Given the description of an element on the screen output the (x, y) to click on. 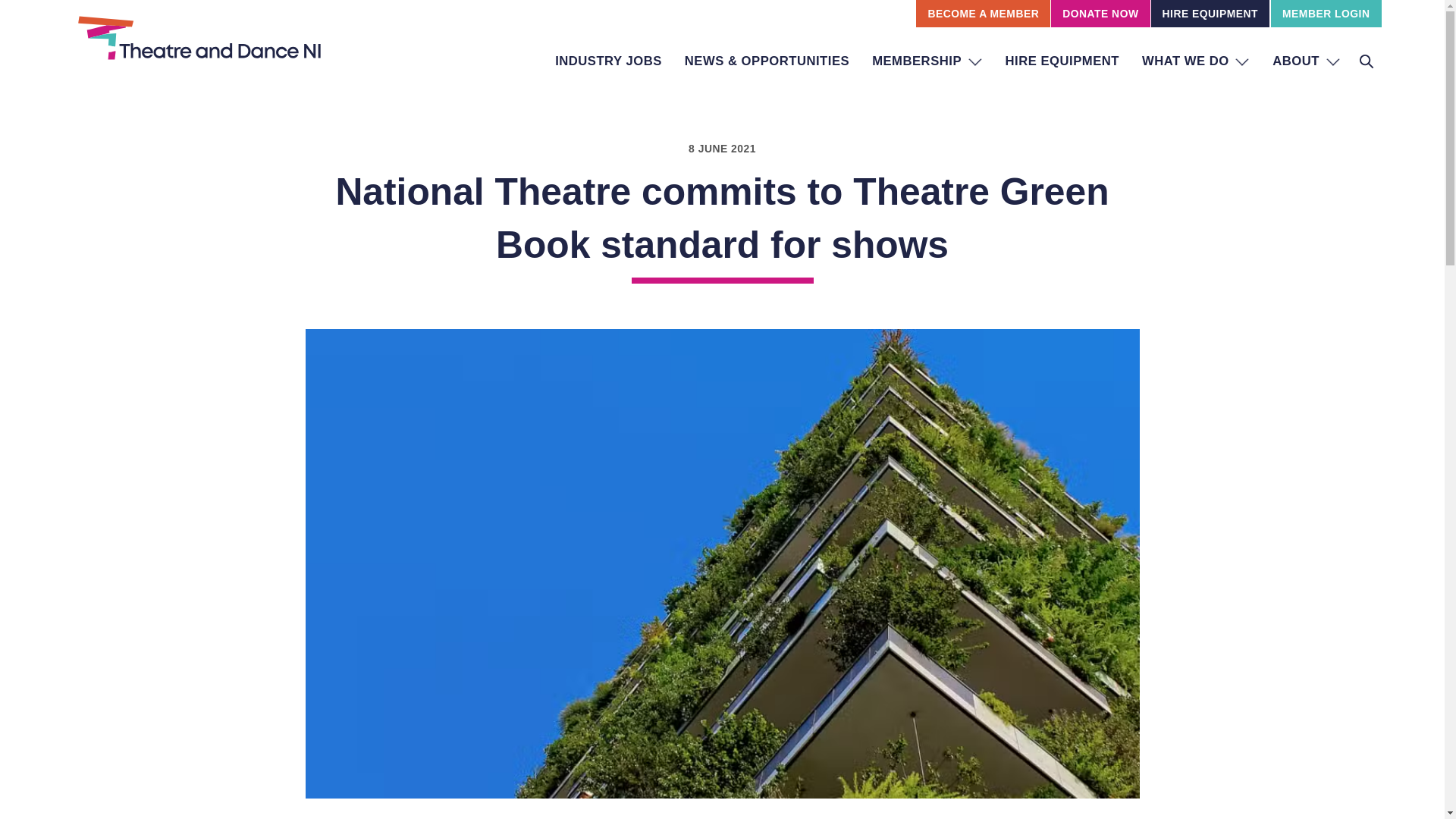
Go to homepage (198, 49)
WHAT WE DO (1195, 61)
MEMBERSHIP (926, 61)
HIRE EQUIPMENT (1210, 13)
HIRE EQUIPMENT (1062, 61)
DONATE NOW (1100, 13)
ABOUT (1305, 61)
BECOME A MEMBER (983, 13)
MEMBER LOGIN (1325, 13)
INDUSTRY JOBS (607, 61)
Theatre and Dance NI (198, 49)
